Given the description of an element on the screen output the (x, y) to click on. 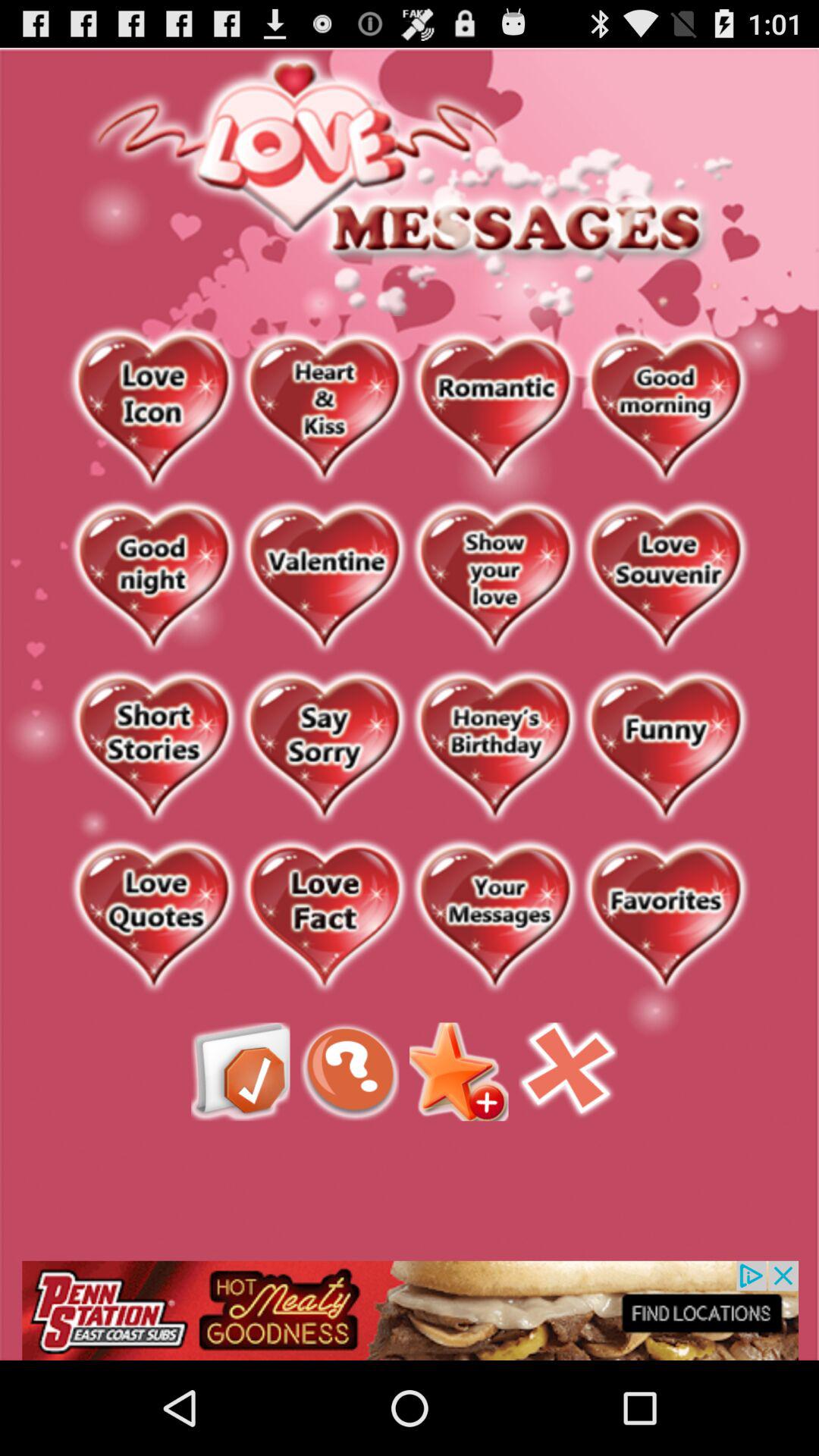
pick honey birthday (494, 747)
